Given the description of an element on the screen output the (x, y) to click on. 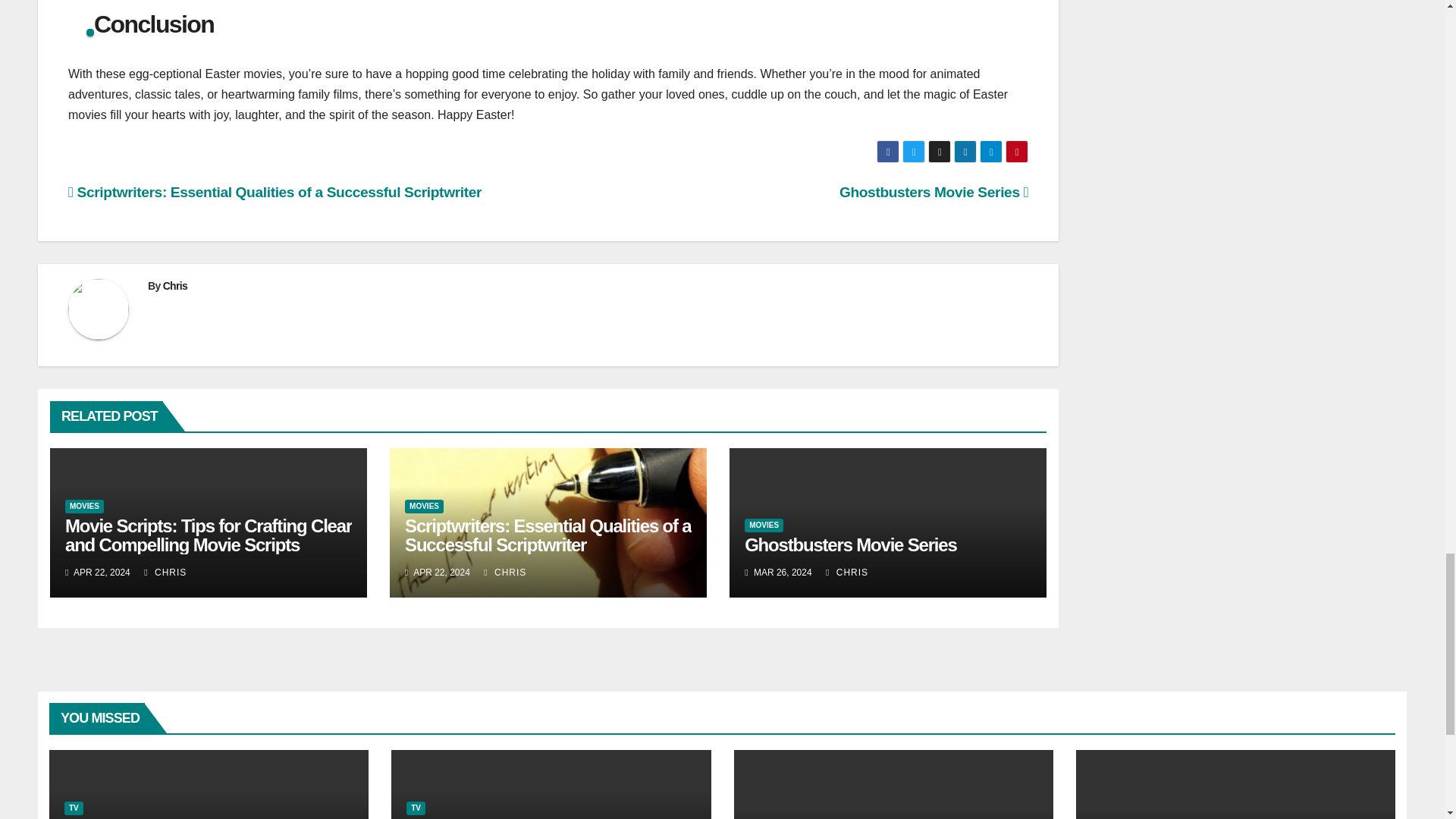
Ghostbusters Movie Series (933, 191)
MOVIES (84, 506)
Permalink to: Ghostbusters Movie Series (850, 544)
Chris (175, 285)
CHRIS (165, 572)
MOVIES (424, 506)
